Given the description of an element on the screen output the (x, y) to click on. 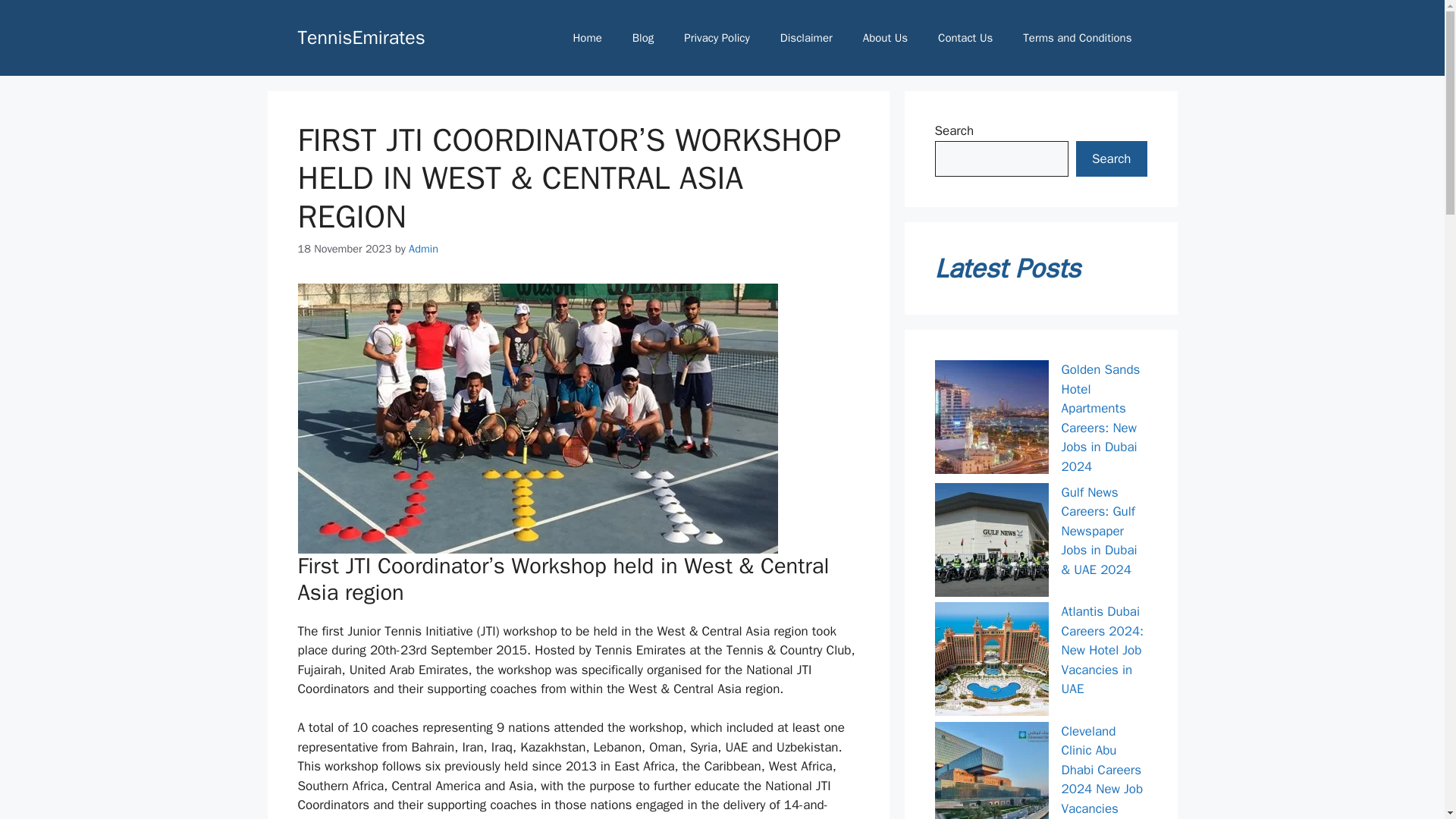
Home (586, 37)
View all posts by Admin (423, 248)
About Us (885, 37)
Blog (642, 37)
TennisEmirates (361, 37)
Terms and Conditions (1077, 37)
Disclaimer (806, 37)
Contact Us (965, 37)
Search (1111, 158)
Privacy Policy (716, 37)
